Given the description of an element on the screen output the (x, y) to click on. 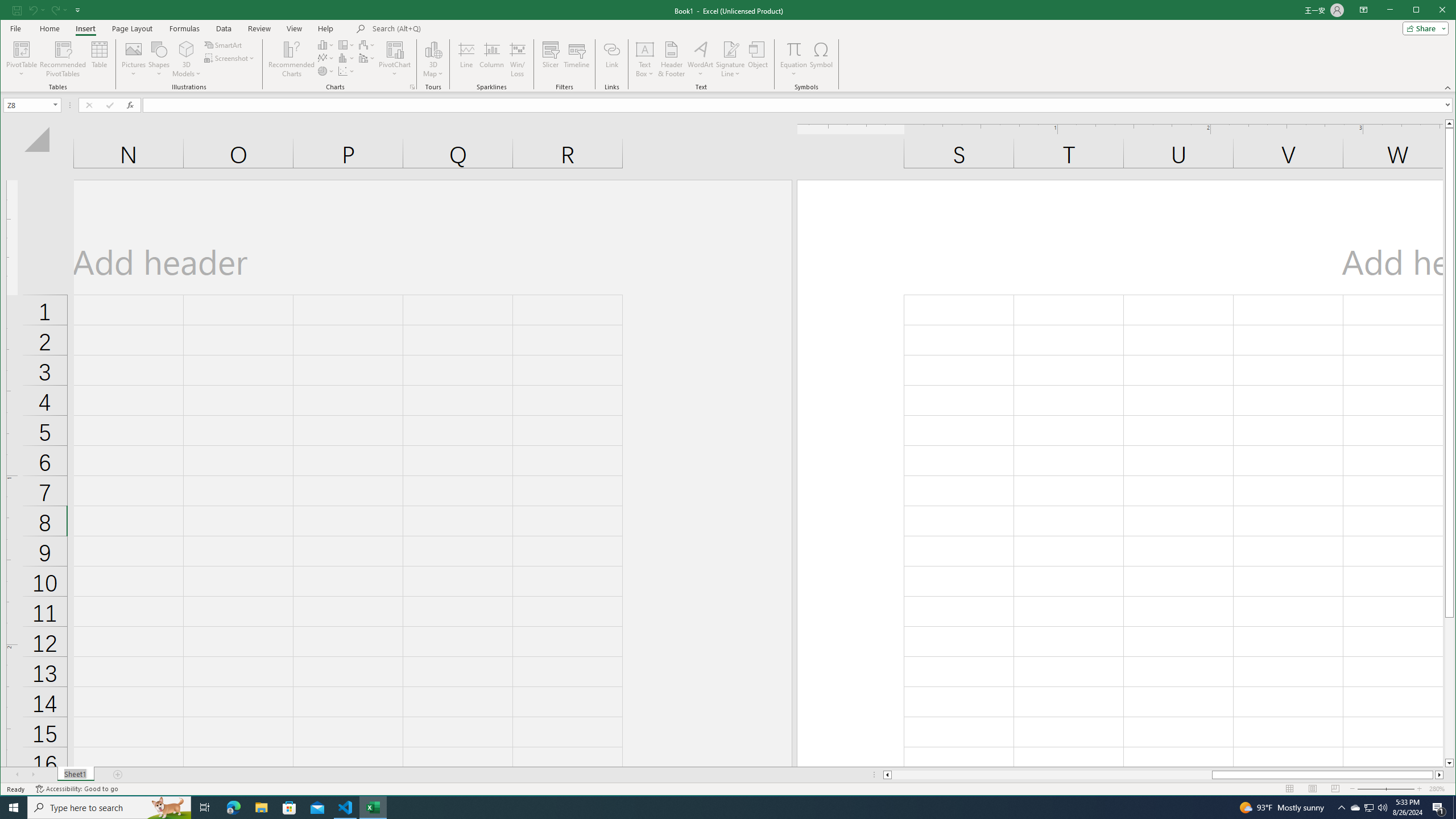
PivotTable (22, 59)
Header & Footer... (670, 59)
Column (492, 59)
Start (13, 807)
Task View (204, 807)
Symbol... (821, 59)
Page left (1051, 774)
Insert Waterfall, Funnel, Stock, Surface, or Radar Chart (366, 44)
